Given the description of an element on the screen output the (x, y) to click on. 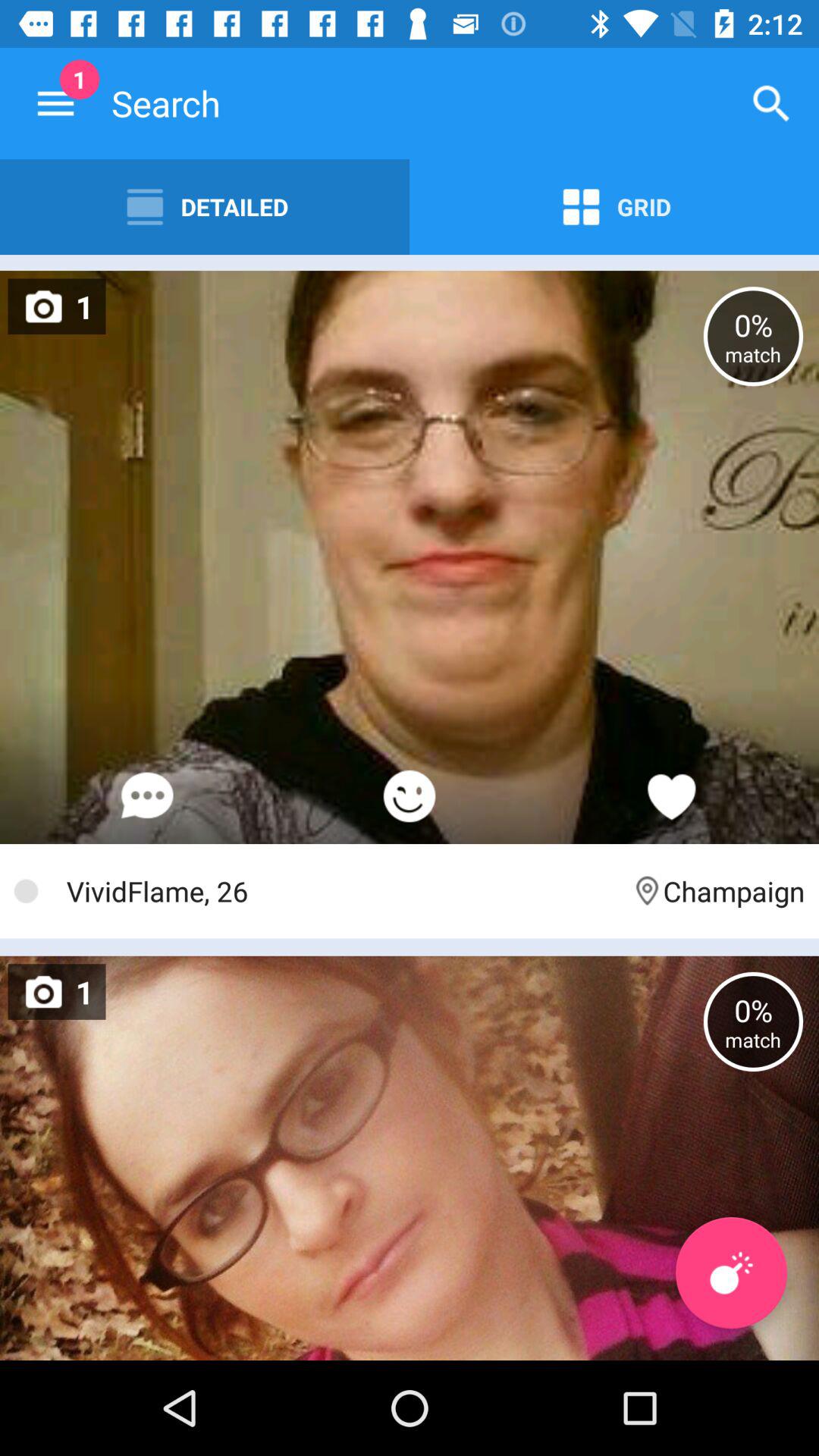
choose icon next to the vividflame, 26 item (717, 891)
